Given the description of an element on the screen output the (x, y) to click on. 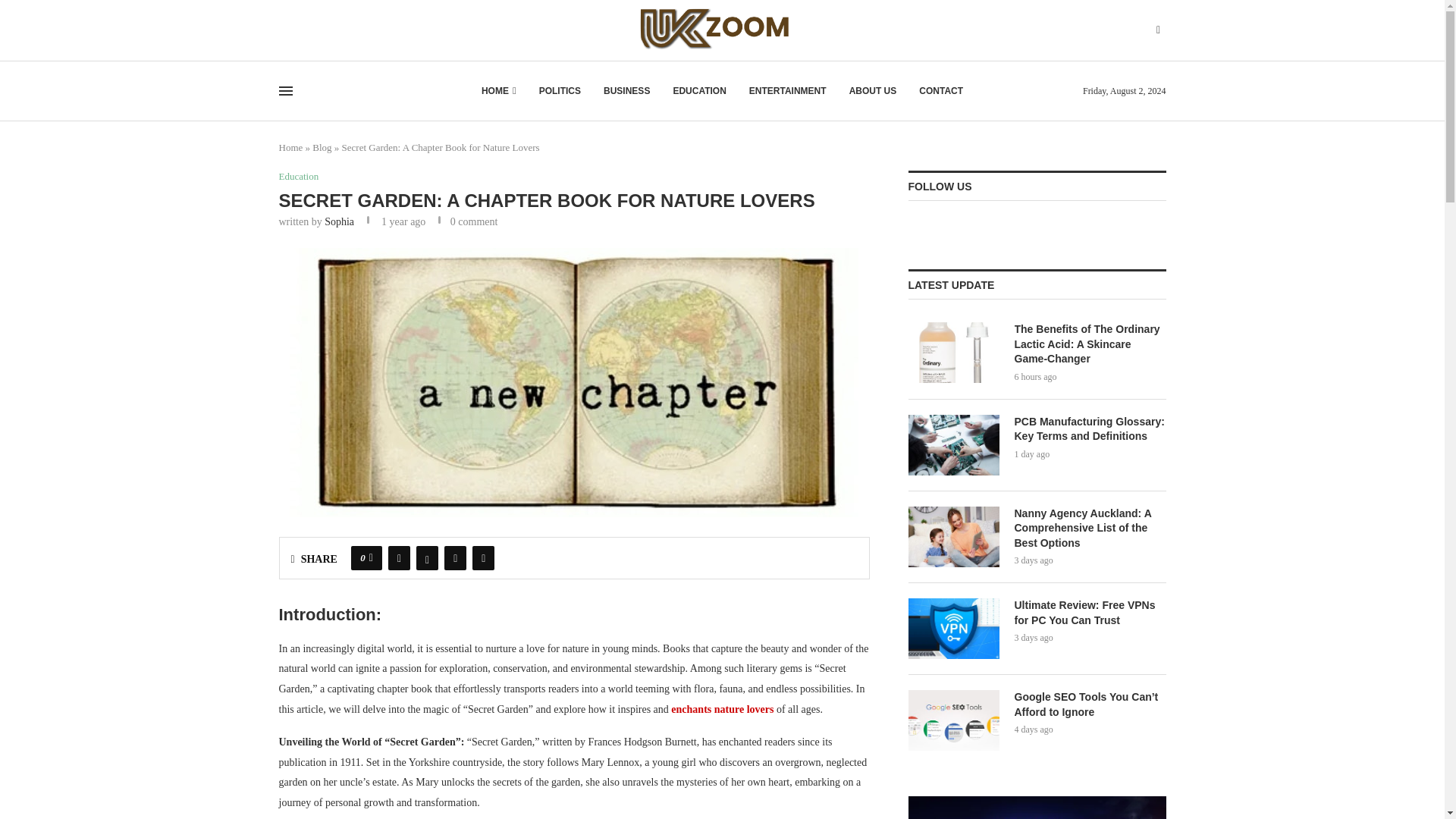
CONTACT (940, 90)
EDUCATION (698, 90)
ENTERTAINMENT (788, 90)
Home (290, 147)
ABOUT US (872, 90)
BUSINESS (626, 90)
POLITICS (559, 90)
